Given the description of an element on the screen output the (x, y) to click on. 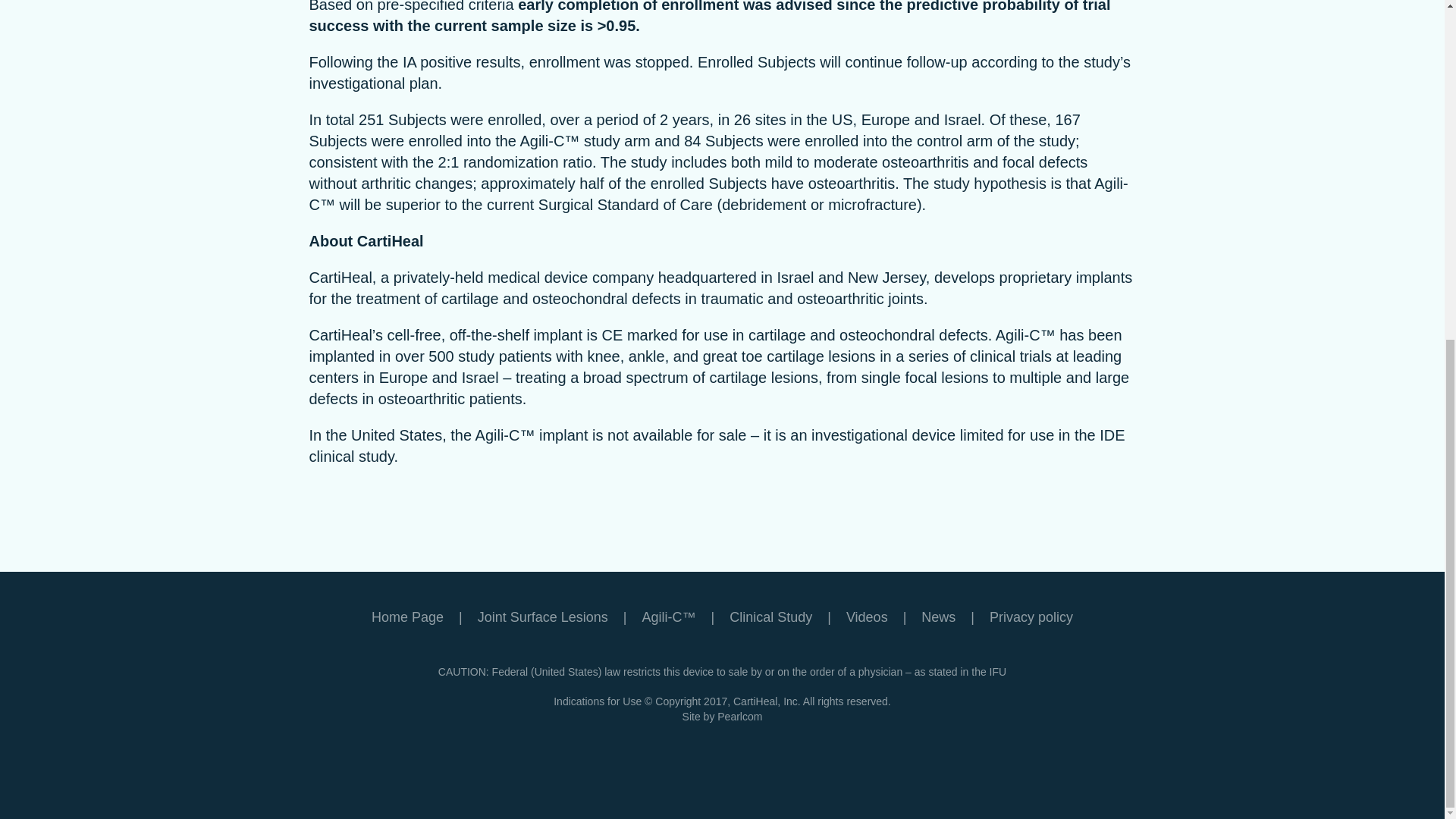
Videos (883, 617)
News (955, 617)
Privacy policy (1031, 617)
Indications for Use (597, 701)
Home Page (424, 617)
Clinical Study (787, 617)
Joint Surface Lesions (559, 617)
Pearlcom (739, 716)
